Given the description of an element on the screen output the (x, y) to click on. 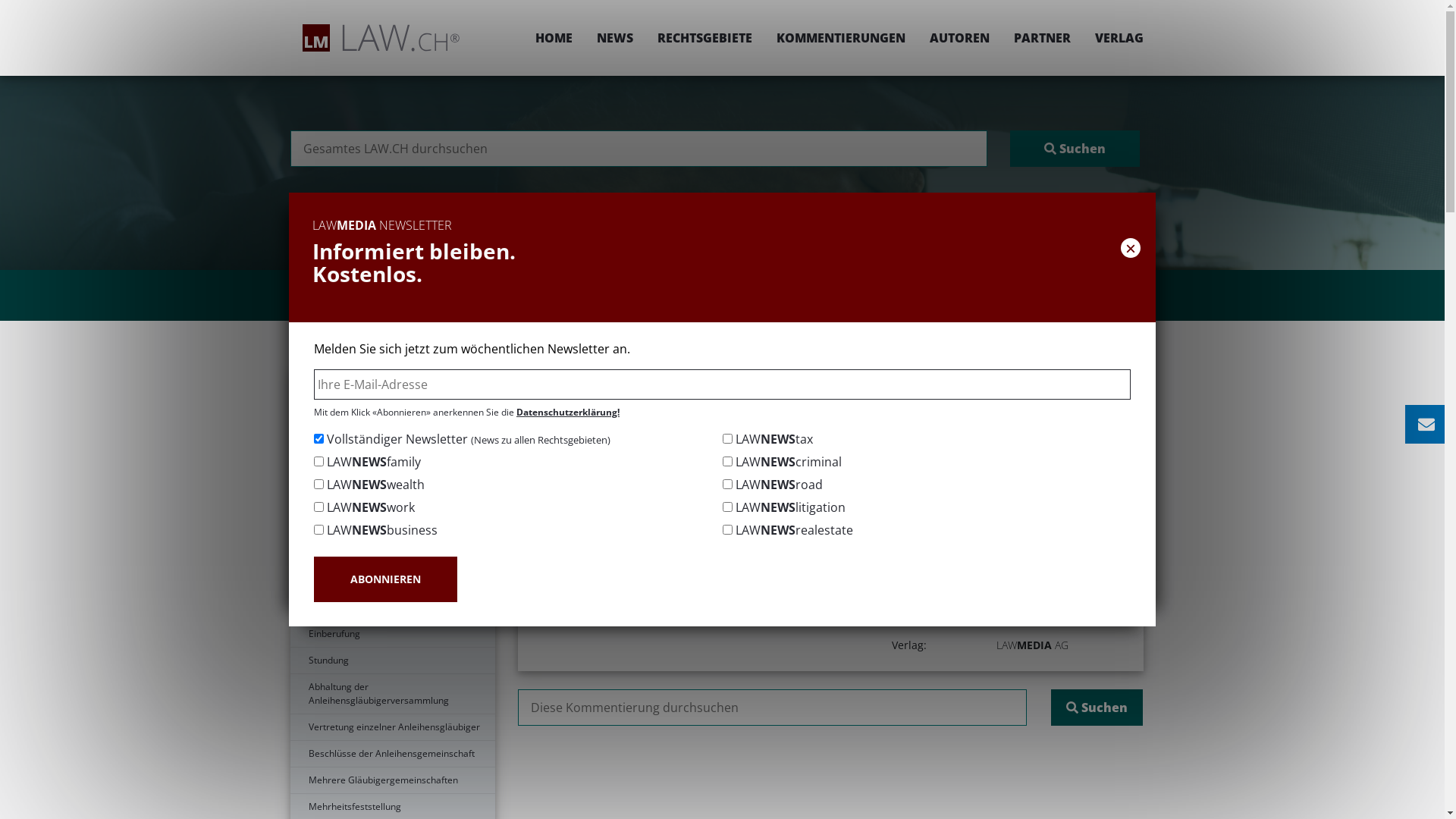
Rechtsgebiete Element type: text (697, 375)
ABONNIEREN Element type: text (385, 579)
Inhaltsverzeichnis Element type: text (391, 407)
Home Element type: text (628, 375)
Suchen nach: Element type: hover (771, 707)
 TEILEN Element type: text (989, 426)
Gesetzliche Grundlagen Element type: text (391, 434)
Anleihensvertreter Element type: text (391, 514)
Stundung Element type: text (391, 660)
NEWS Element type: text (613, 37)
Prospektpflicht Element type: text (391, 460)
 DRUCKEN / PDF Element type: text (1095, 426)
Kontrolle des Anleihensschuldners Element type: text (391, 540)
AUTOREN Element type: text (959, 37)
KOMMENTIERUNGEN Element type: text (840, 37)
HOME Element type: text (553, 37)
Einleitung zur Anleihensobligation Element type: text (391, 381)
Suchen nach: Element type: hover (637, 148)
VERLAG Element type: text (1112, 37)
RECHTSGEBIETE Element type: text (703, 37)
Anleihensobligationen bei Schuldnerinsolvenz Element type: text (391, 573)
PARTNER Element type: text (1041, 37)
Einberufung Element type: text (391, 633)
